Given the description of an element on the screen output the (x, y) to click on. 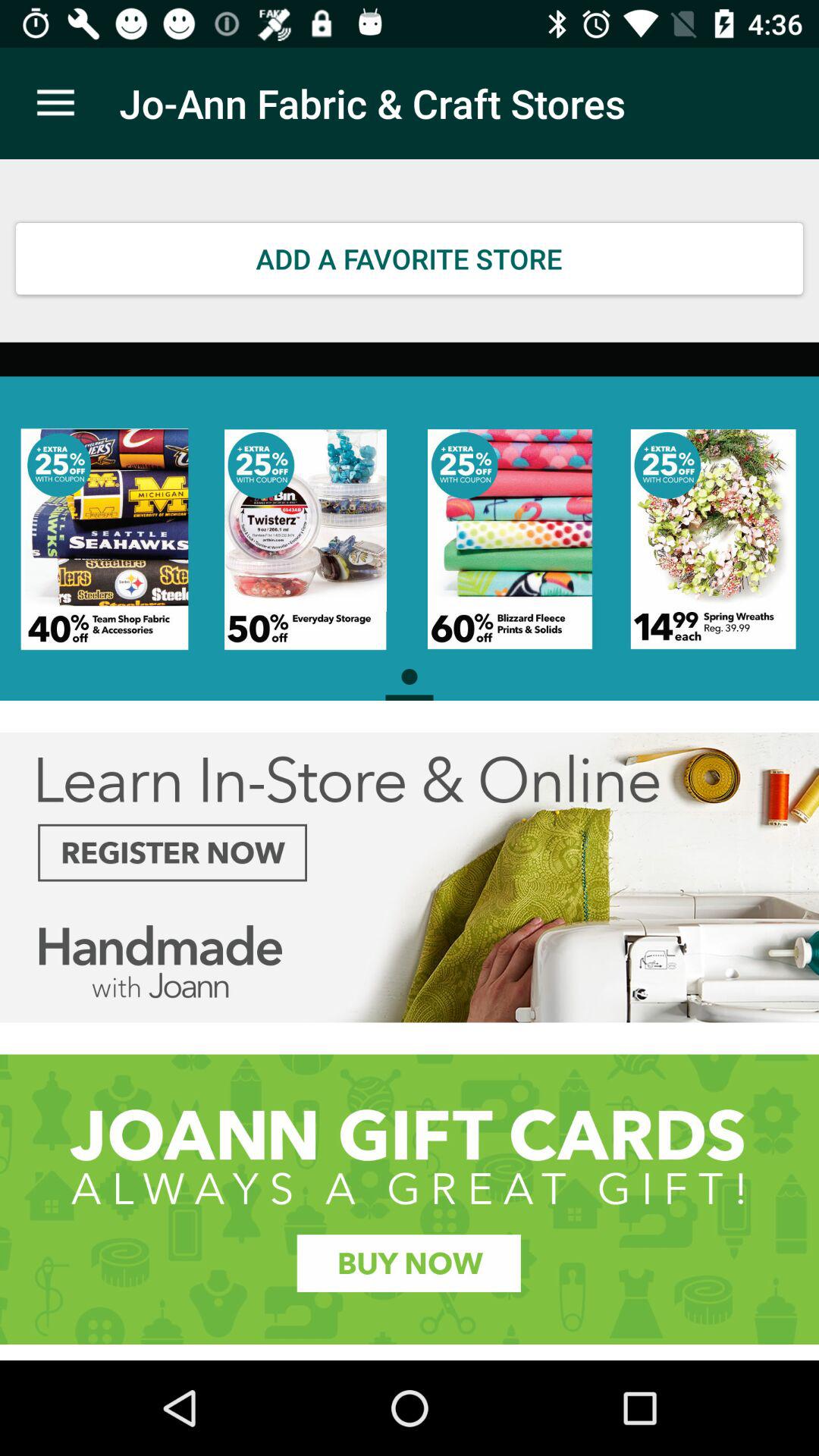
search for (409, 1199)
